Given the description of an element on the screen output the (x, y) to click on. 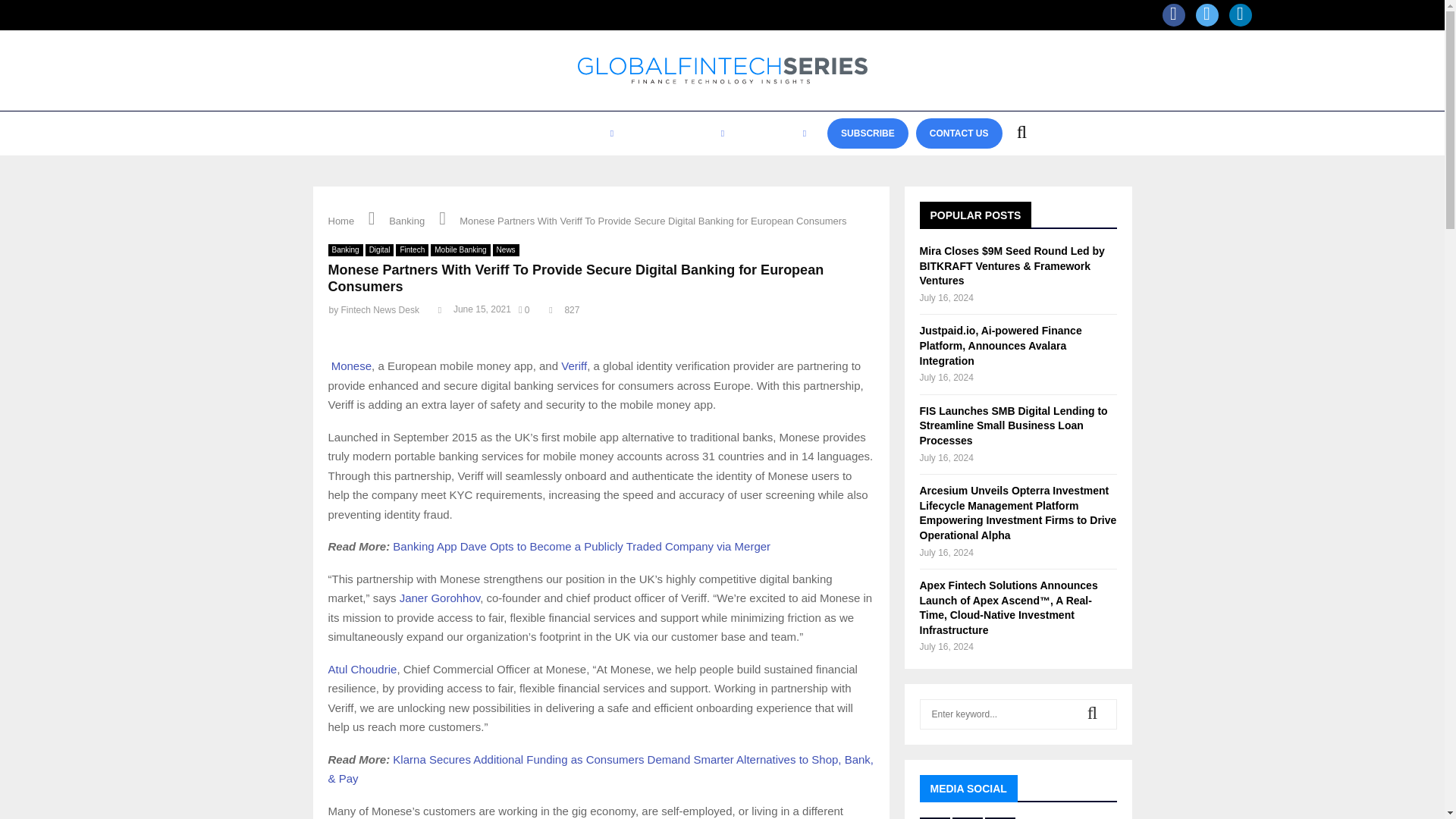
Facebook (1173, 15)
Twitter (1206, 15)
INSIGHTS (587, 133)
CONTACT US (959, 132)
Twitter (1206, 15)
NEWS (437, 133)
SUBSCRIBE (867, 132)
SERVICES (778, 133)
Home (340, 220)
INTERVIEWS (506, 133)
Linkedin (1239, 15)
Facebook (1173, 15)
Linkedin (1239, 15)
FINTECH RADAR (682, 133)
